Given the description of an element on the screen output the (x, y) to click on. 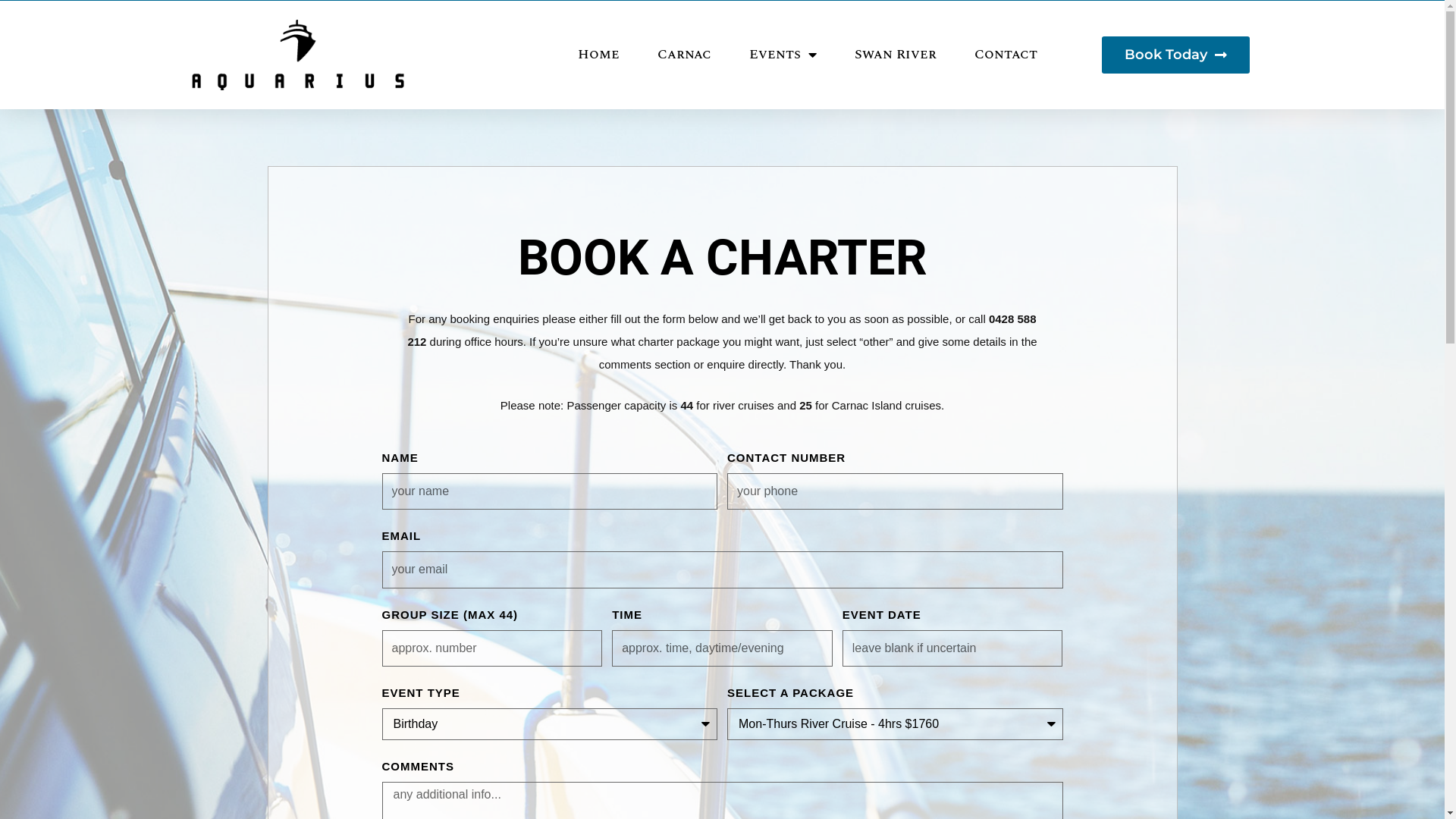
Contact Element type: text (1005, 54)
Events Element type: text (782, 54)
Carnac Element type: text (684, 54)
Swan River Element type: text (895, 54)
Book Today Element type: text (1175, 54)
Home Element type: text (598, 54)
